Given the description of an element on the screen output the (x, y) to click on. 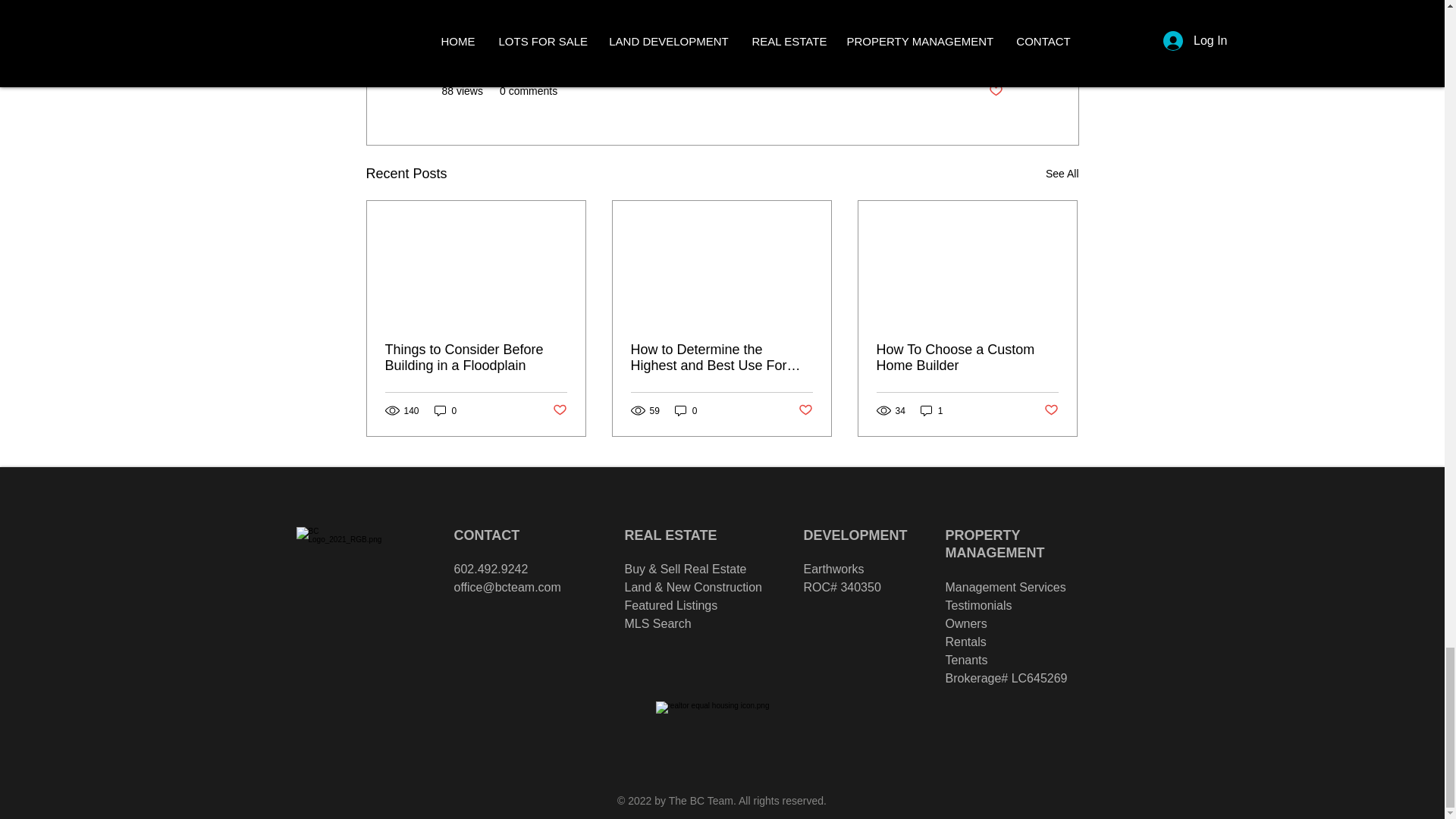
Post not marked as liked (558, 410)
Things to Consider Before Building in a Floodplain (476, 357)
See All (1061, 173)
0 (445, 410)
Post not marked as liked (995, 91)
